Given the description of an element on the screen output the (x, y) to click on. 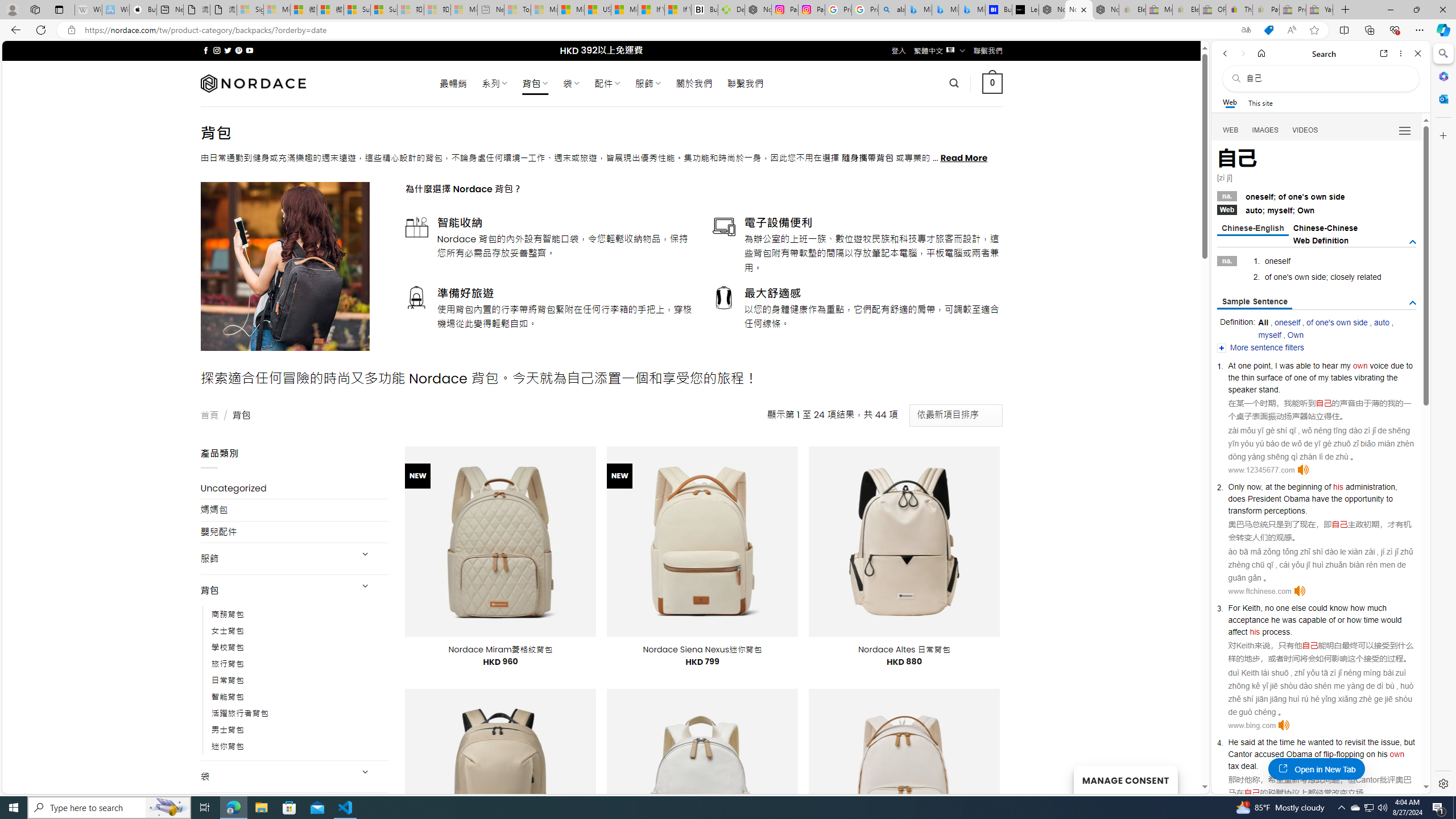
auto (1381, 322)
now (1253, 486)
www.ftchinese.com (1259, 591)
